Given the description of an element on the screen output the (x, y) to click on. 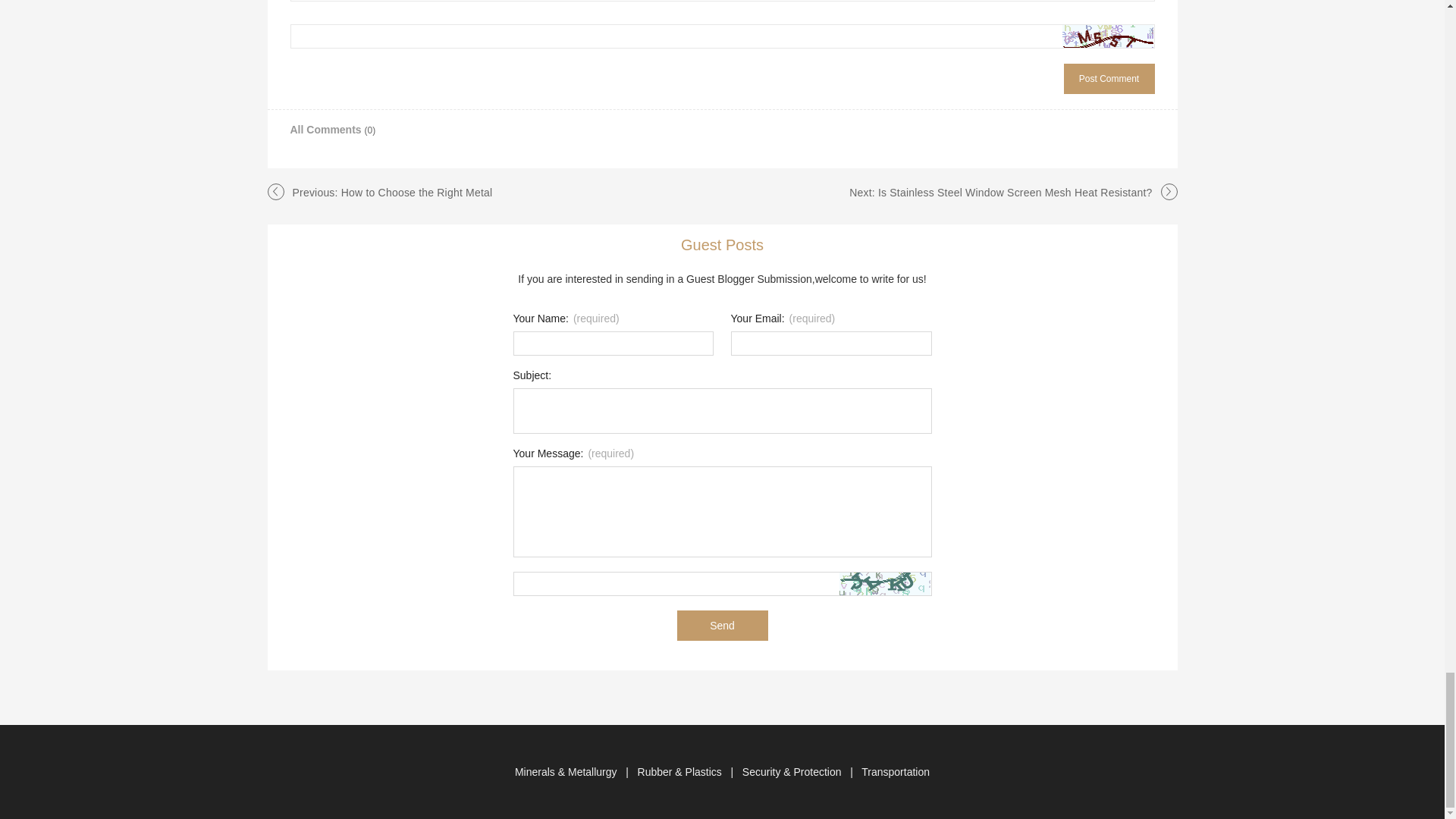
Send (722, 625)
Previous: How to Choose the Right Metal (392, 192)
Guest Posts (721, 244)
Send (722, 625)
Post Comment (1108, 78)
Next: Is Stainless Steel Window Screen Mesh Heat Resistant? (999, 192)
Post Comment (1108, 78)
